Given the description of an element on the screen output the (x, y) to click on. 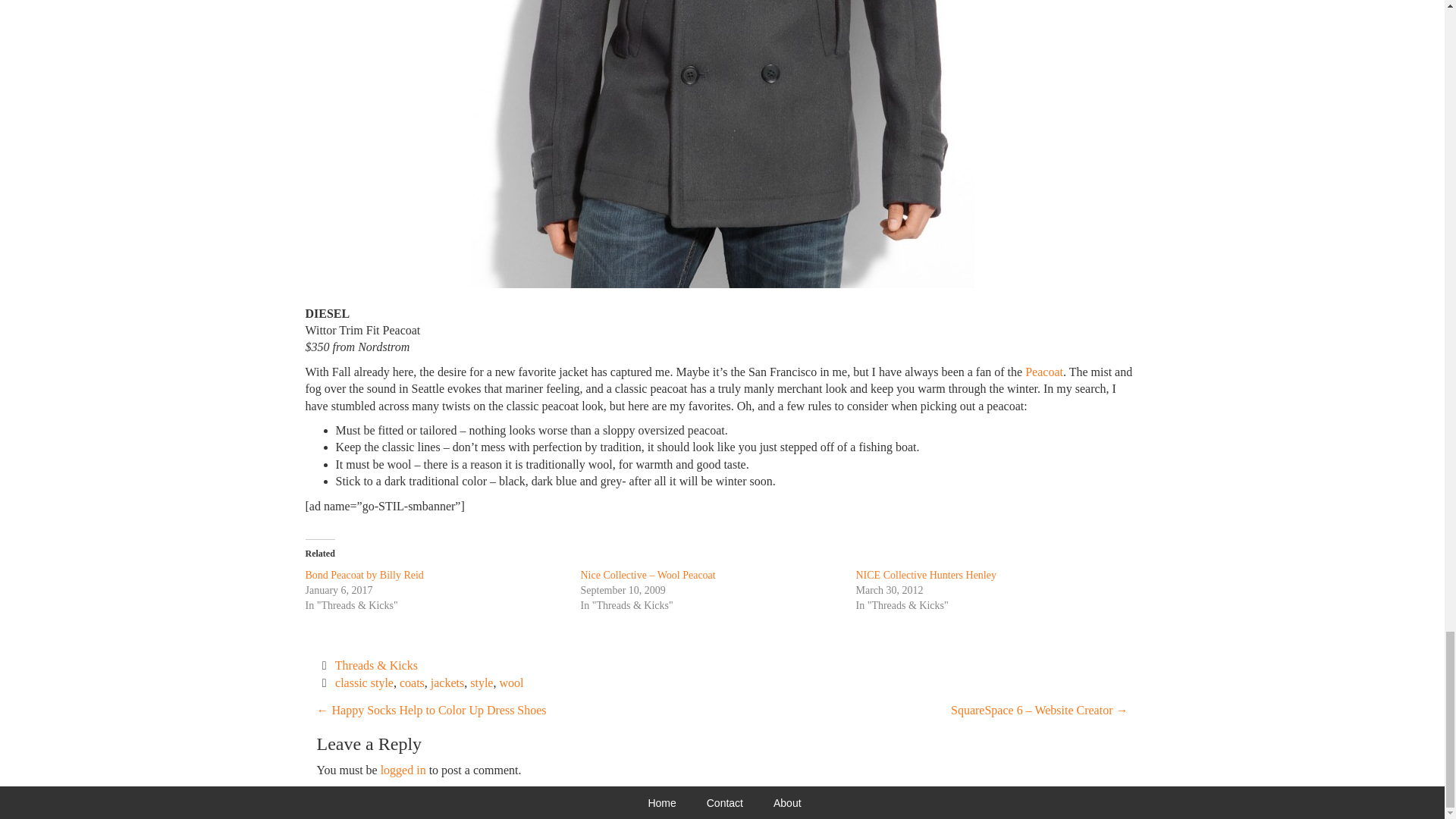
Nice Collective Peacoat (1043, 371)
classic style (363, 682)
Bond Peacoat by Billy Reid (363, 574)
Bond Peacoat by Billy Reid (363, 574)
NICE Collective Hunters Henley (925, 574)
jackets (447, 682)
logged in (403, 769)
Peacoat (1043, 371)
wool (510, 682)
NICE Collective Hunters Henley (925, 574)
style (481, 682)
coats (411, 682)
